Given the description of an element on the screen output the (x, y) to click on. 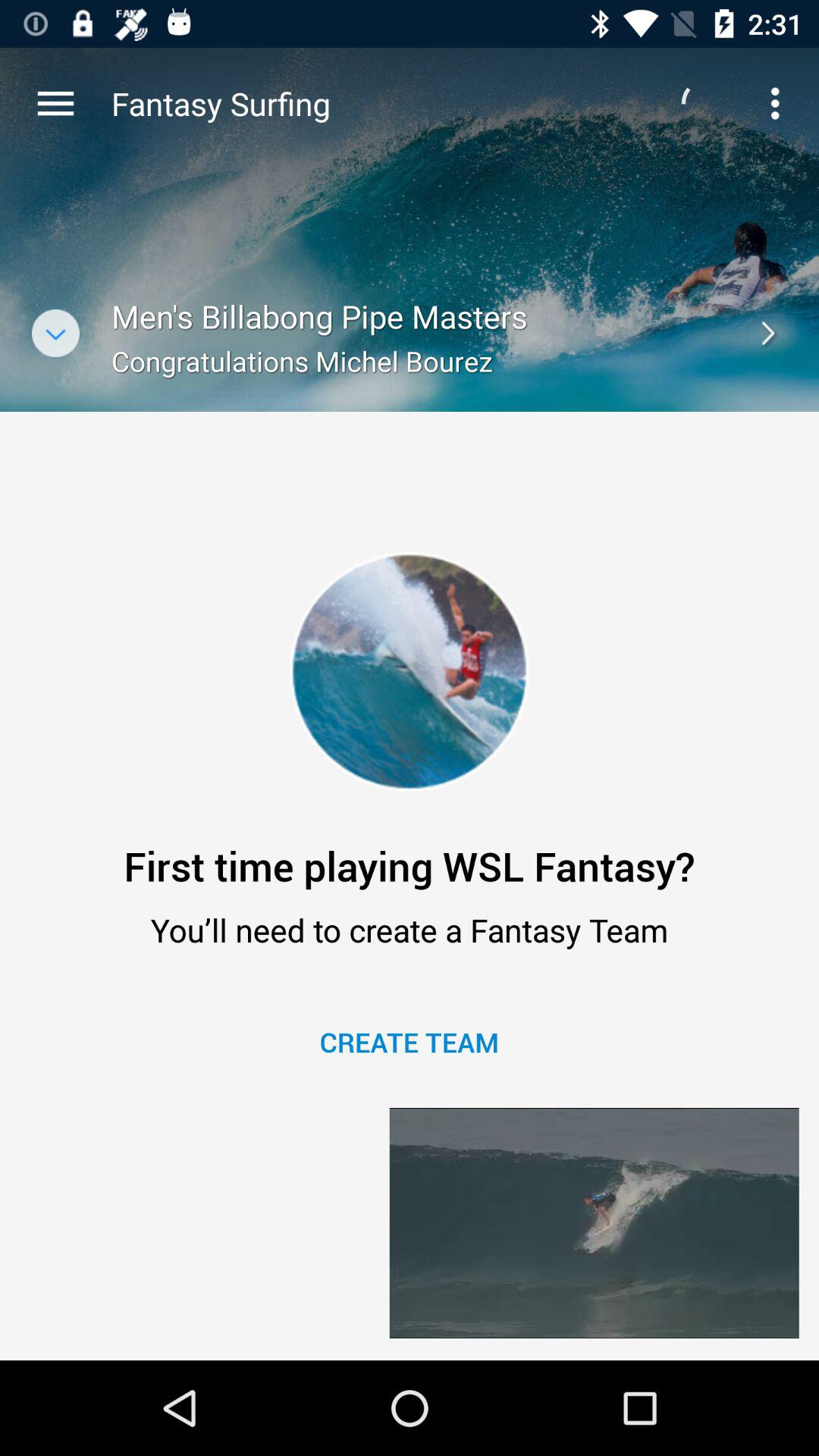
drop down icon (55, 333)
